Given the description of an element on the screen output the (x, y) to click on. 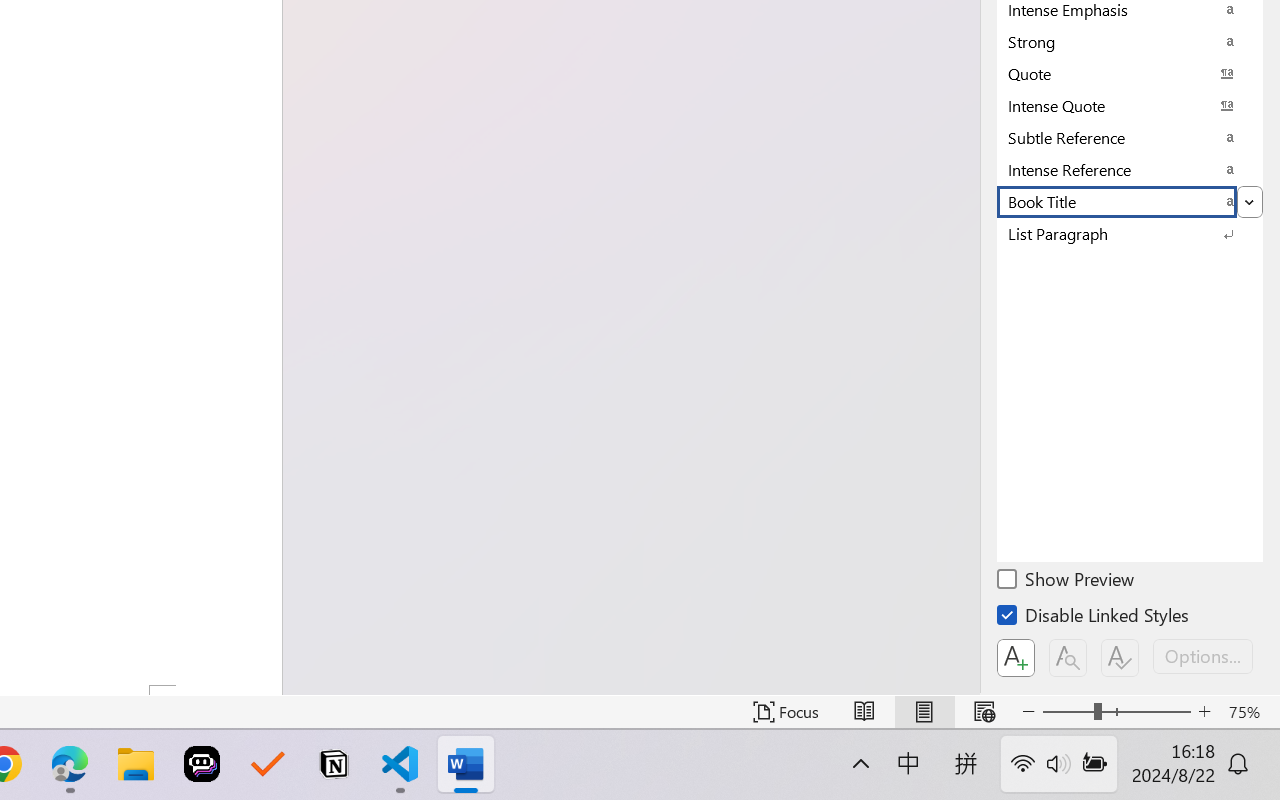
Zoom 75% (1249, 712)
List Paragraph (1130, 233)
Strong (1130, 41)
Quote (1130, 73)
Intense Reference (1130, 169)
Show Preview (1067, 582)
Options... (1203, 656)
Class: NetUIButton (1119, 657)
Disable Linked Styles (1094, 618)
